Given the description of an element on the screen output the (x, y) to click on. 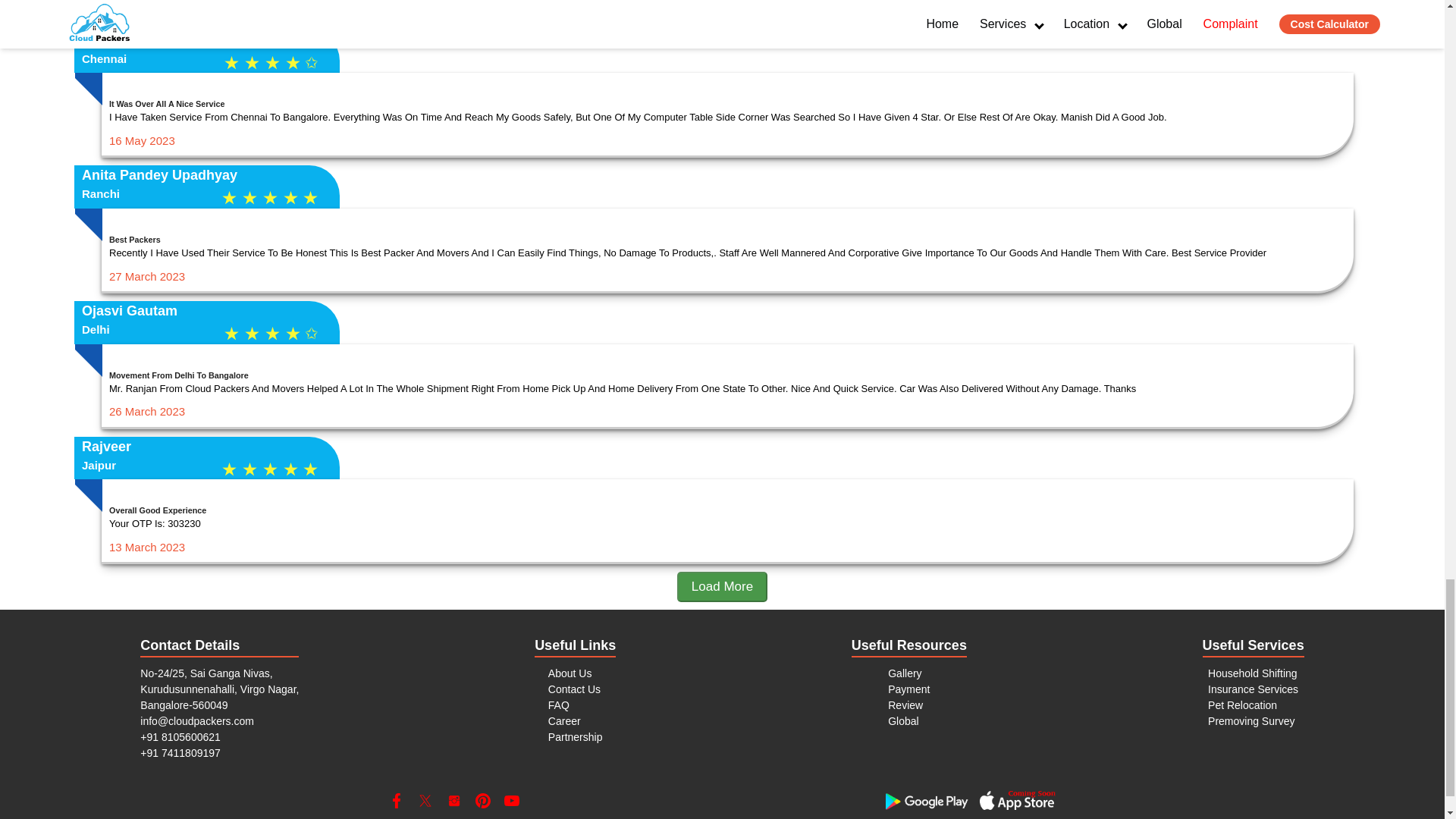
instagram (453, 800)
Load More (722, 586)
